Given the description of an element on the screen output the (x, y) to click on. 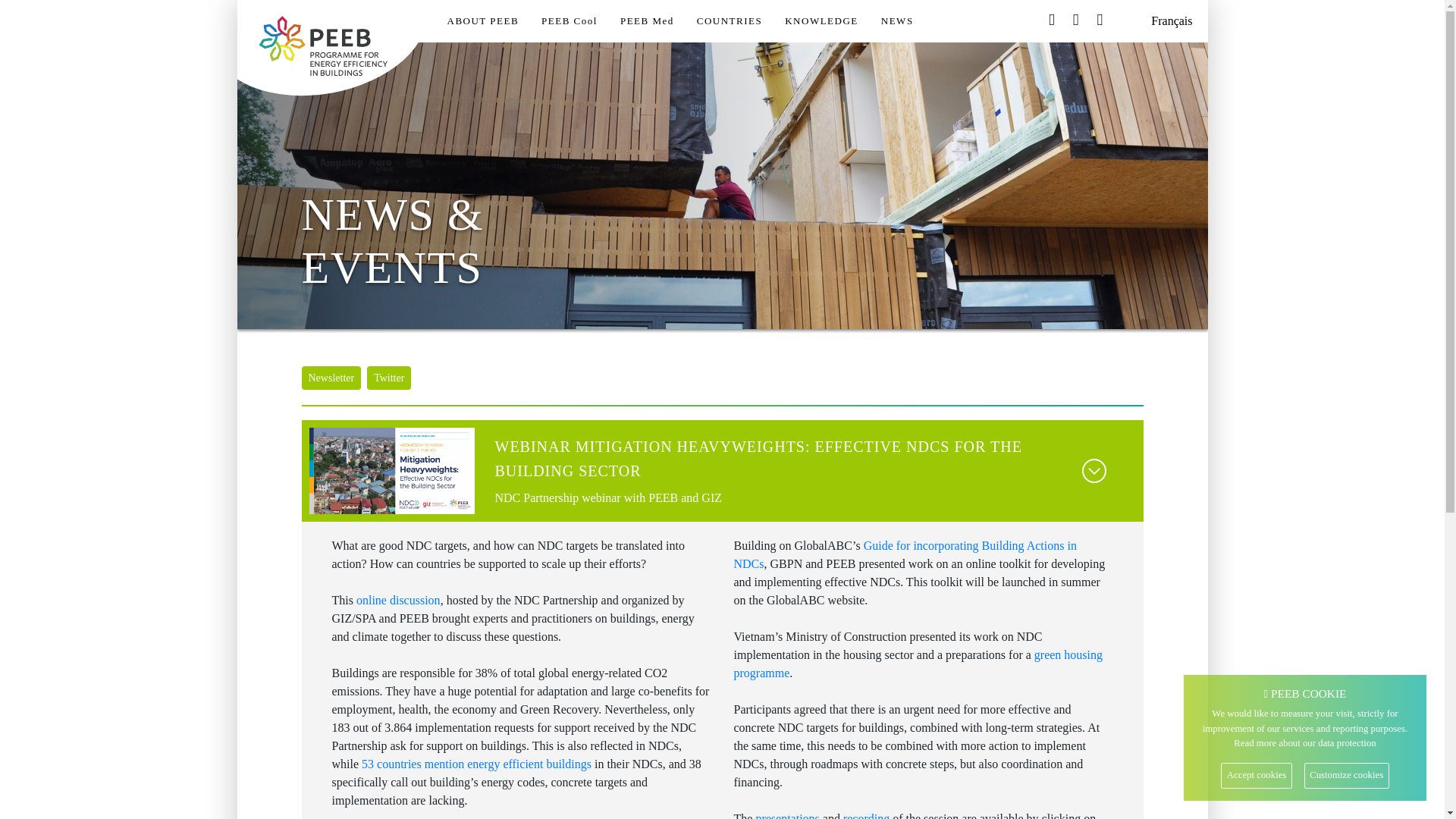
Newsletter Element type: text (332, 378)
COUNTRIES Element type: text (729, 21)
NEWS Element type: text (897, 20)
PEEB Cool Element type: text (569, 20)
Guide for incorporating Building Actions in NDCs Element type: text (905, 554)
KNOWLEDGE Element type: text (821, 21)
53 countries mention energy efficient buildings Element type: text (476, 763)
data protection Element type: text (1346, 742)
Newsletter Element type: text (331, 377)
Accept cookies Element type: text (1255, 775)
PEEB Med Element type: text (646, 20)
Twitter Element type: text (389, 377)
Twitter Element type: text (390, 378)
Customize cookies Element type: text (1346, 775)
online discussion Element type: text (398, 599)
green housing programme Element type: text (918, 663)
ABOUT PEEB Element type: text (482, 21)
